Given the description of an element on the screen output the (x, y) to click on. 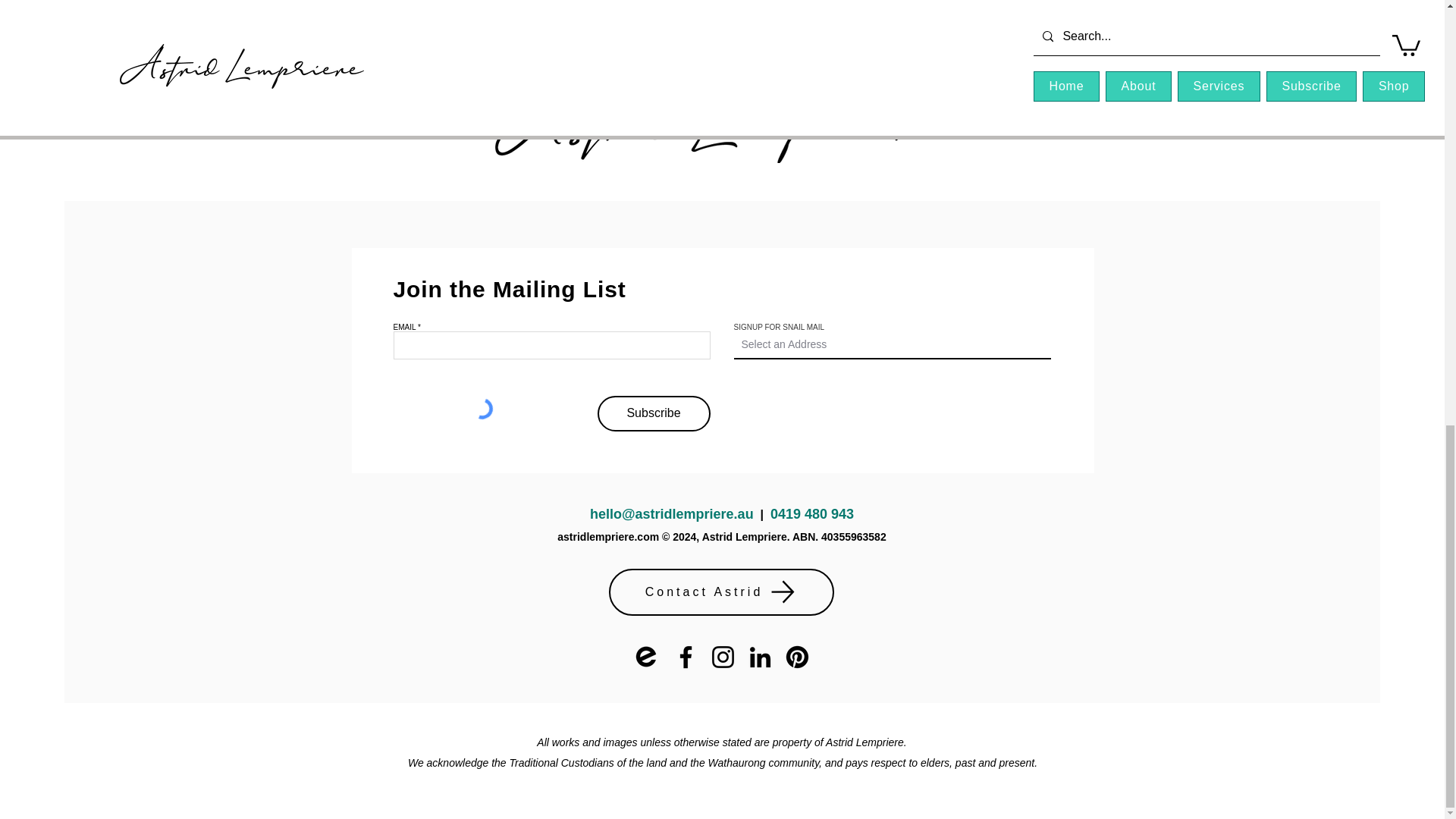
Subscribe (653, 413)
AL LOGO black.png (722, 121)
Contact Astrid (720, 591)
